Given the description of an element on the screen output the (x, y) to click on. 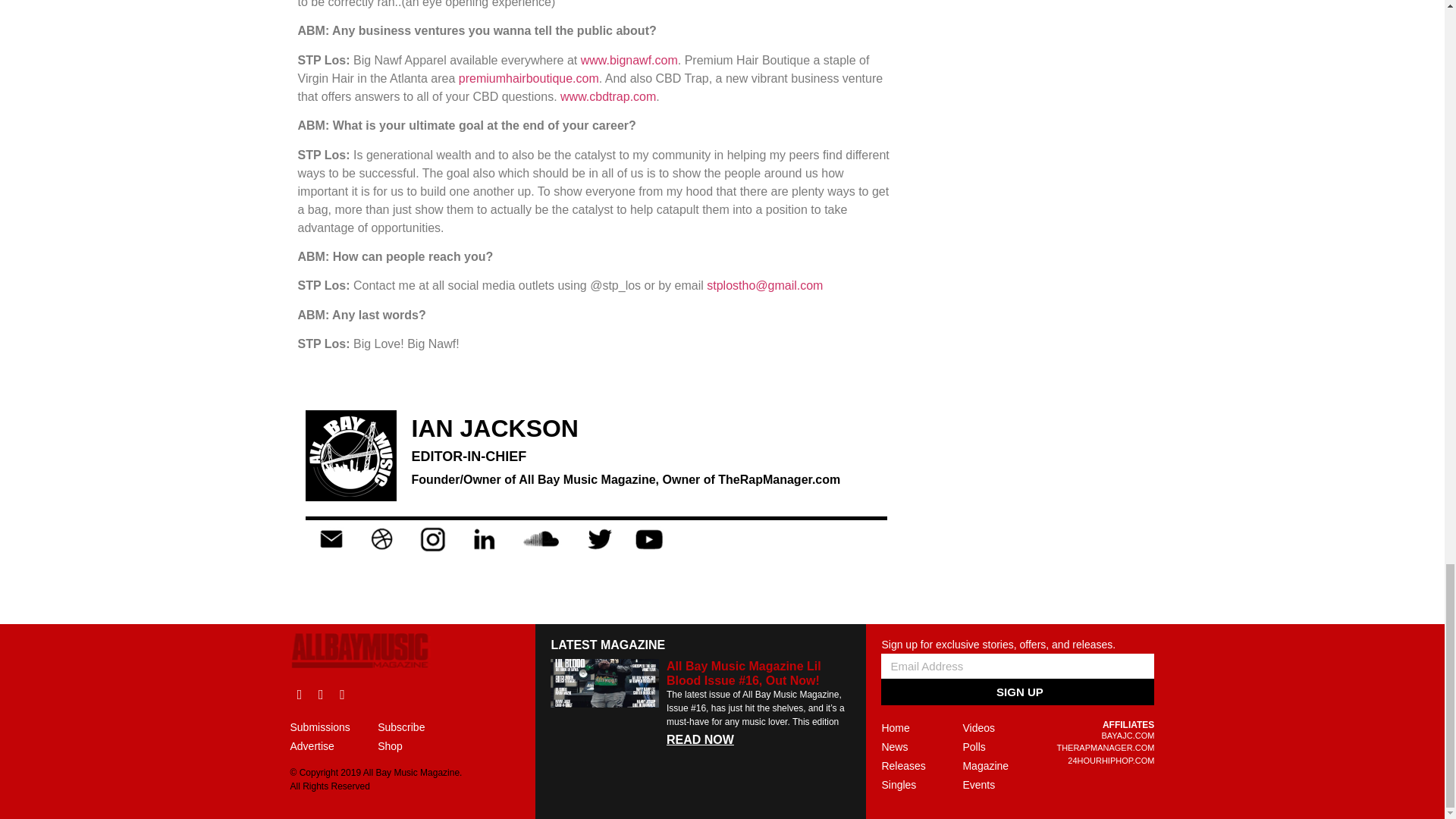
premiumhairboutique.com (528, 78)
www.bignawf.com (629, 60)
www.cbdtrap.com (608, 96)
